Given the description of an element on the screen output the (x, y) to click on. 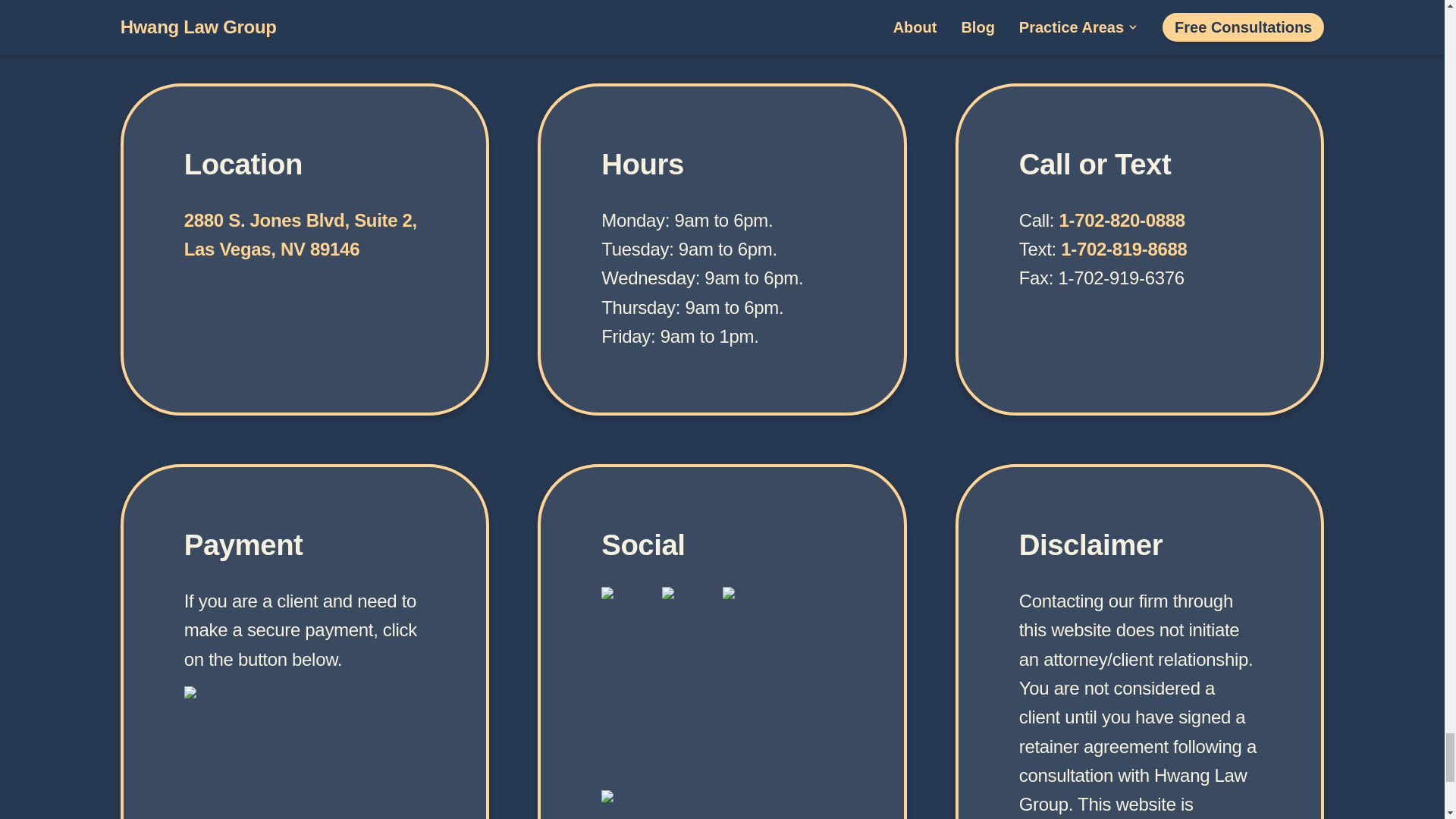
1-702-819-8688 (300, 234)
1-702-820-0888 (1123, 249)
